Given the description of an element on the screen output the (x, y) to click on. 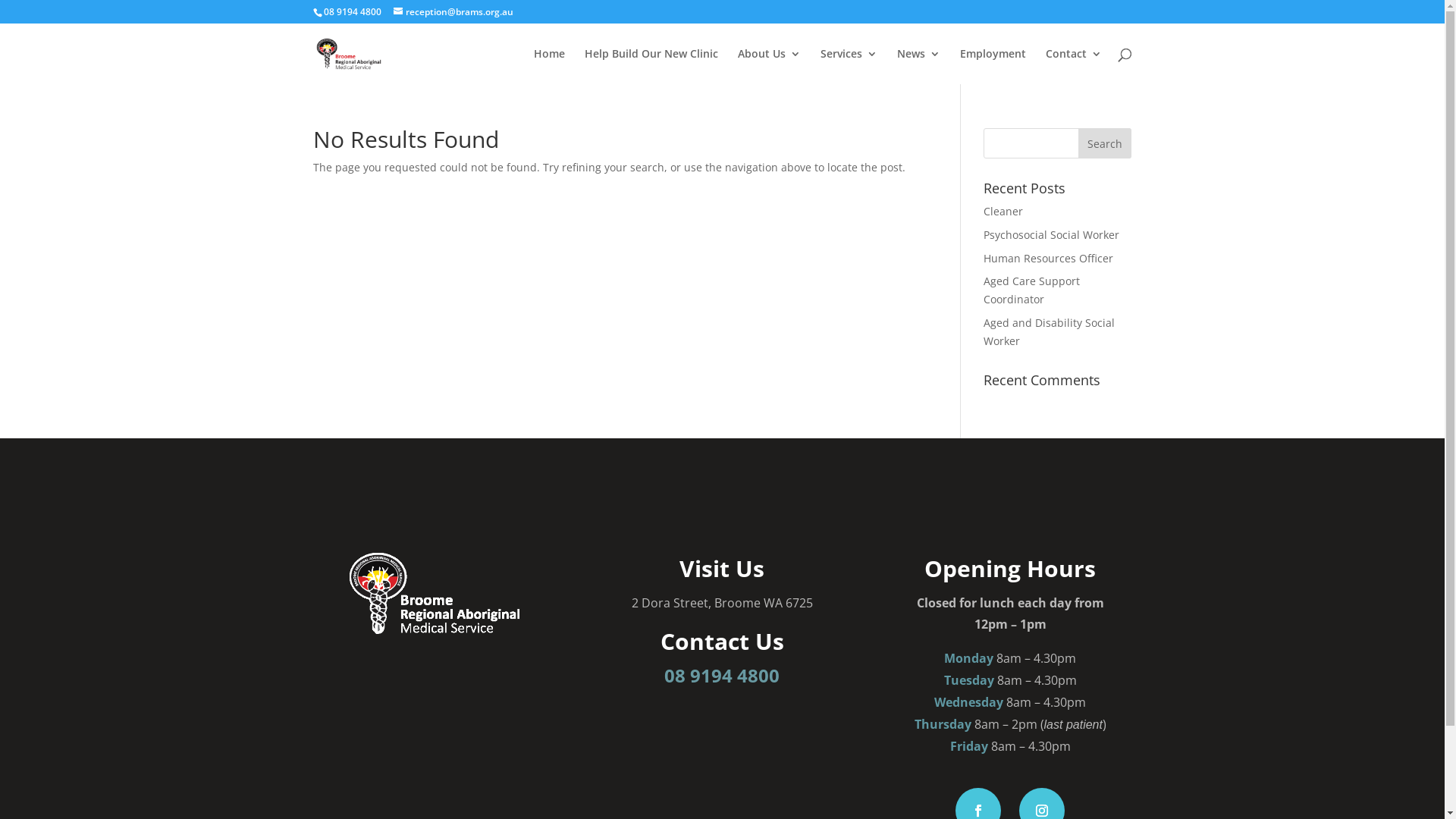
Help Build Our New Clinic Element type: text (650, 66)
Human Resources Officer Element type: text (1048, 258)
Psychosocial Social Worker Element type: text (1051, 234)
Contact Element type: text (1072, 66)
About Us Element type: text (768, 66)
News Element type: text (917, 66)
reception@brams.org.au Element type: text (452, 11)
Employment Element type: text (993, 66)
Aged Care Support Coordinator Element type: text (1031, 289)
Aged and Disability Social Worker Element type: text (1048, 331)
Home Element type: text (548, 66)
BRAMS_logo_1023 Element type: hover (434, 592)
Cleaner Element type: text (1002, 210)
Services Element type: text (848, 66)
Search Element type: text (1104, 143)
